Given the description of an element on the screen output the (x, y) to click on. 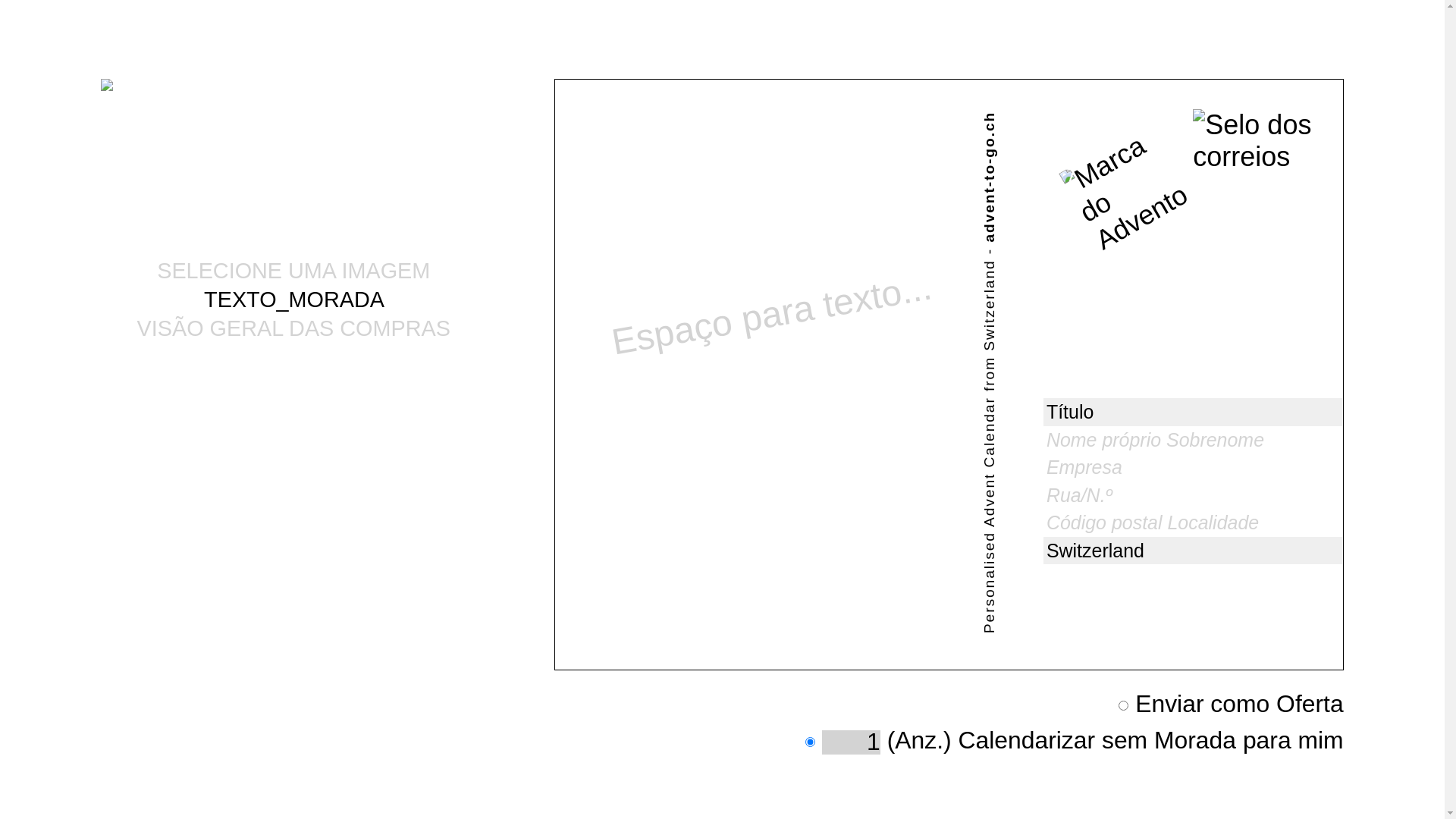
SELECIONE UMA IMAGEM Element type: text (292, 270)
